Given the description of an element on the screen output the (x, y) to click on. 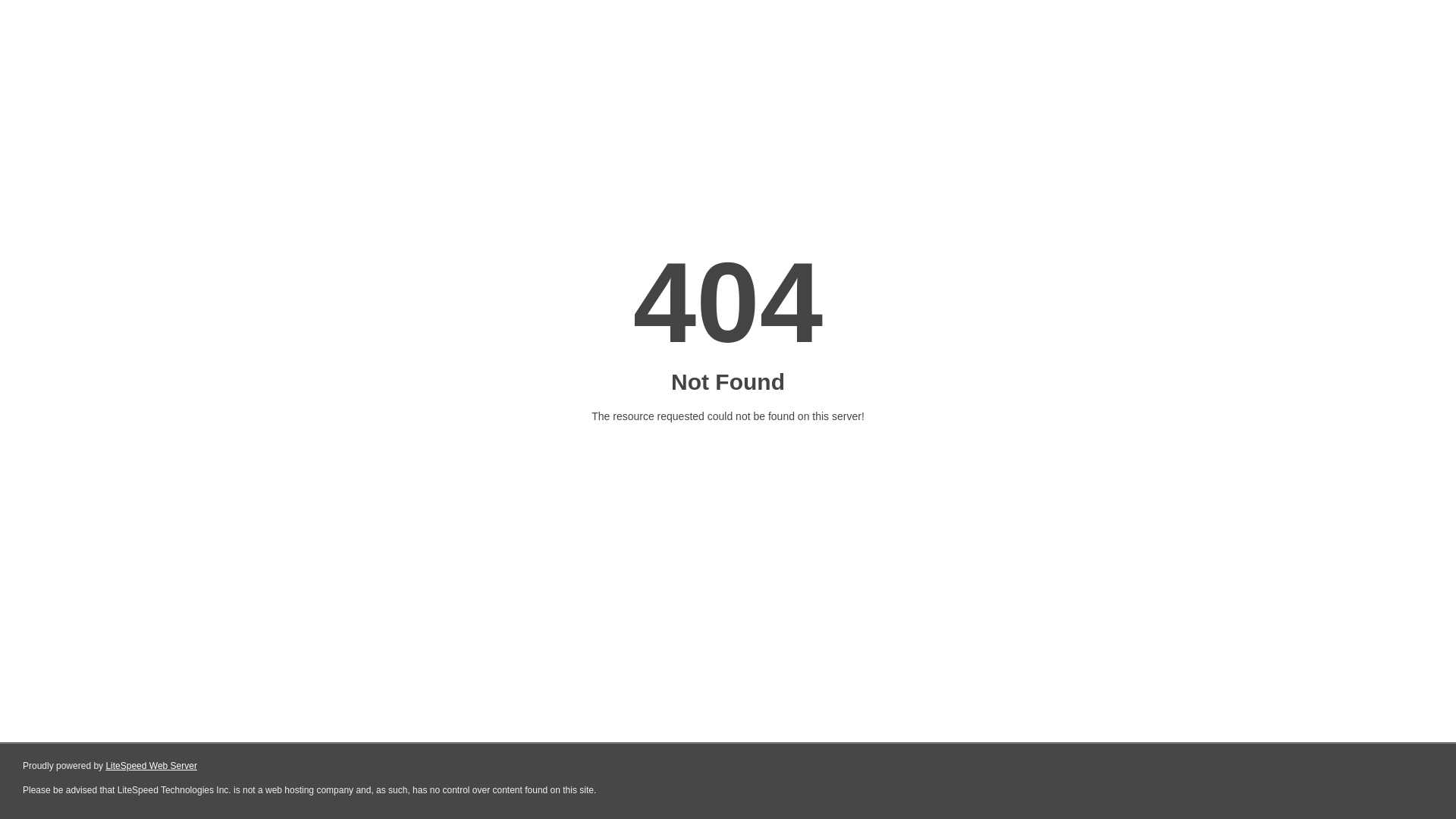
LiteSpeed Web Server Element type: text (151, 765)
